Given the description of an element on the screen output the (x, y) to click on. 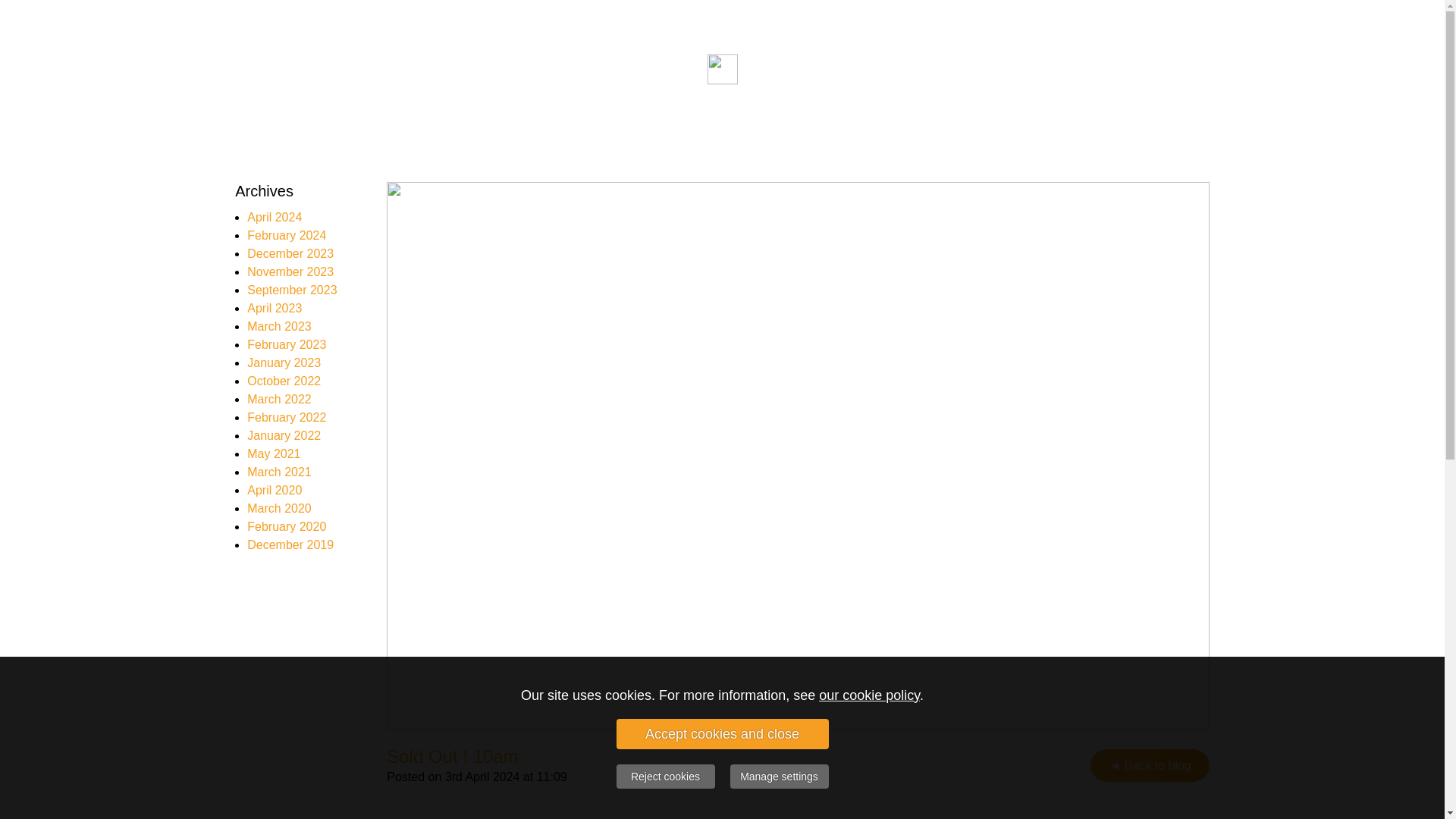
our cookie policy (869, 694)
Charities (922, 68)
Manage settings (778, 776)
April 2024 (274, 216)
Gallery (1140, 68)
May 2021 (273, 453)
October 2022 (283, 380)
March 2022 (279, 399)
January 2023 (283, 362)
Home (788, 68)
